Given the description of an element on the screen output the (x, y) to click on. 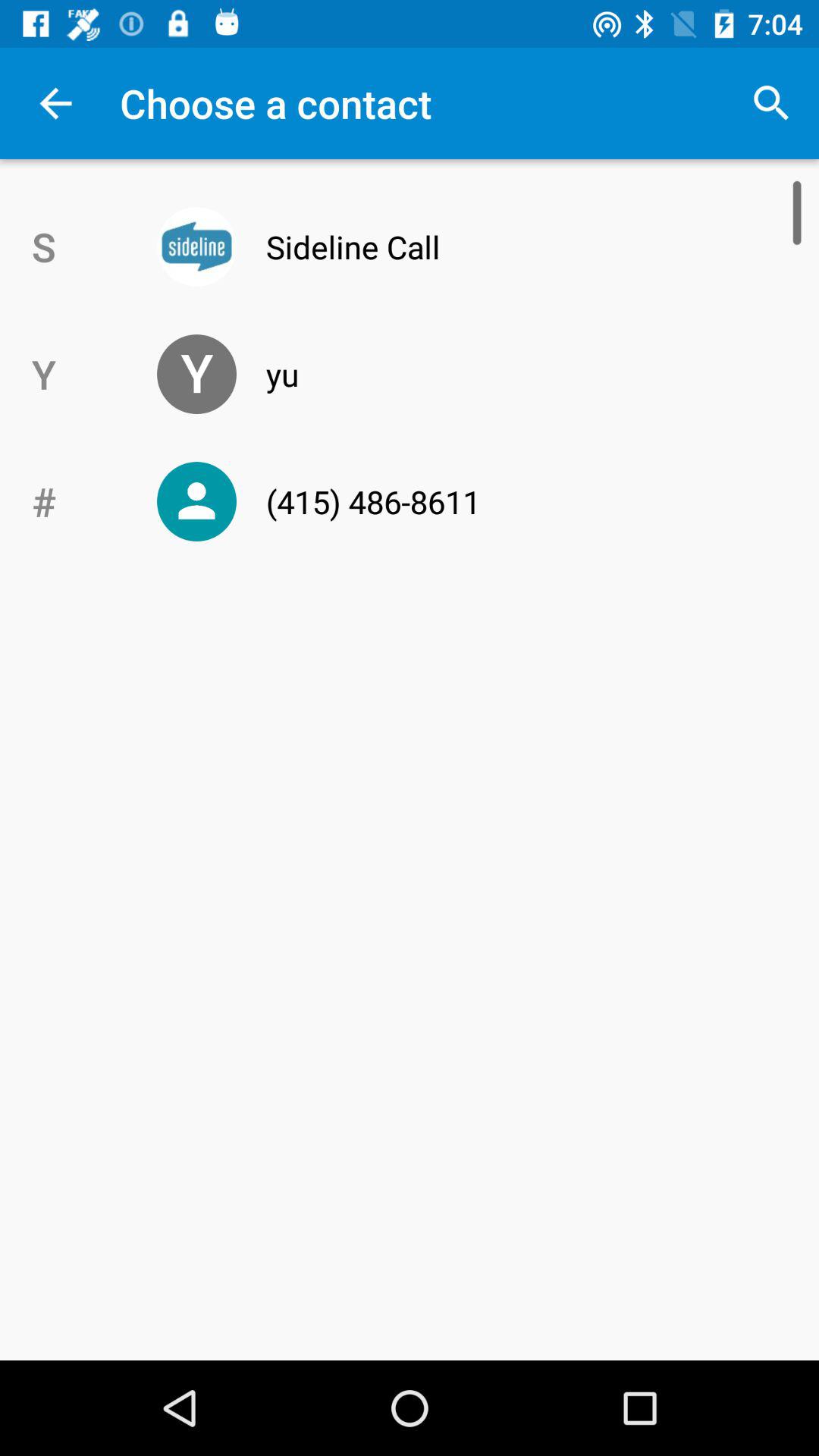
open item next to choose a contact item (771, 103)
